Given the description of an element on the screen output the (x, y) to click on. 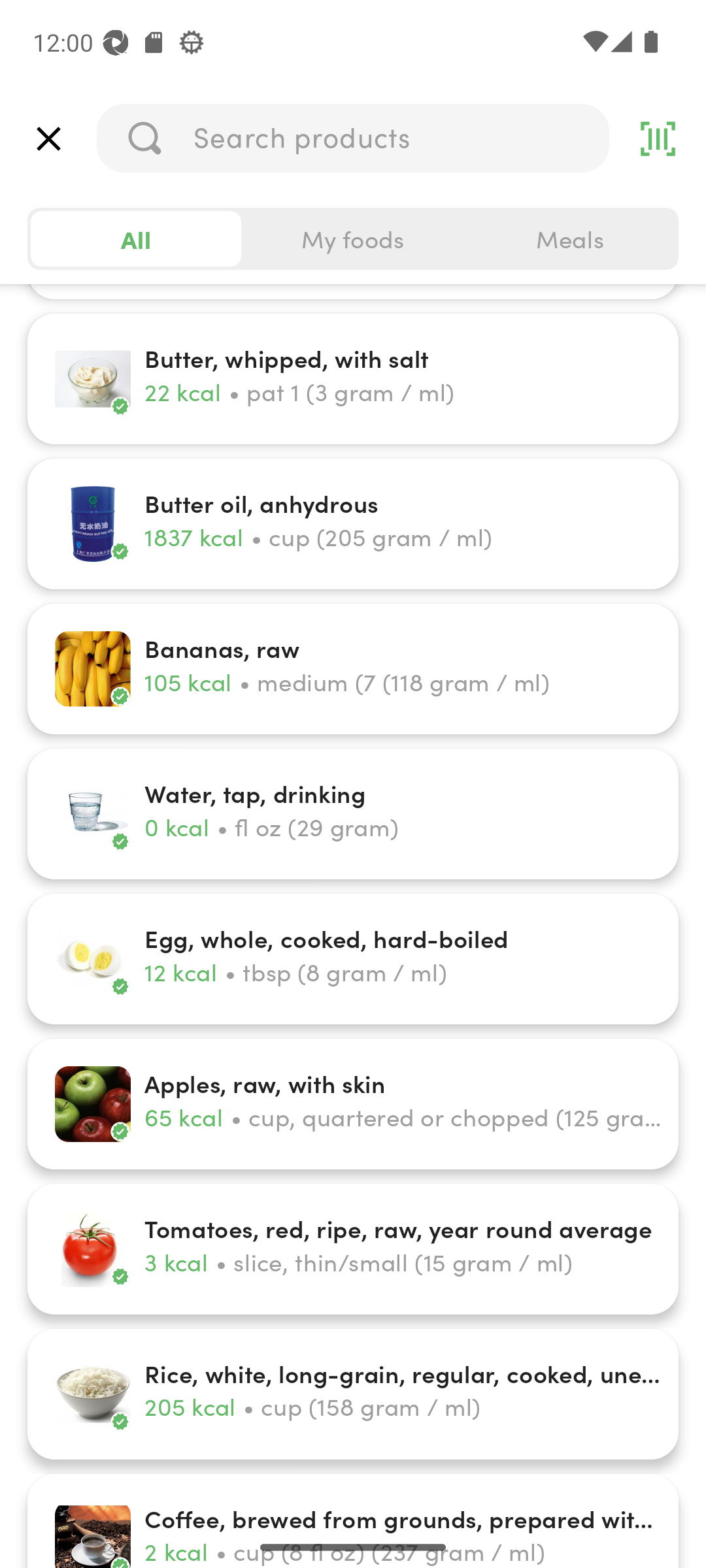
top_left_action (48, 138)
top_right_action (658, 138)
My foods (352, 238)
Meals (569, 238)
Bananas, raw 105 kcal  • medium (7 (118 gram / ml) (352, 668)
Water, tap, drinking 0 kcal  • fl oz (29 gram) (352, 814)
